Given the description of an element on the screen output the (x, y) to click on. 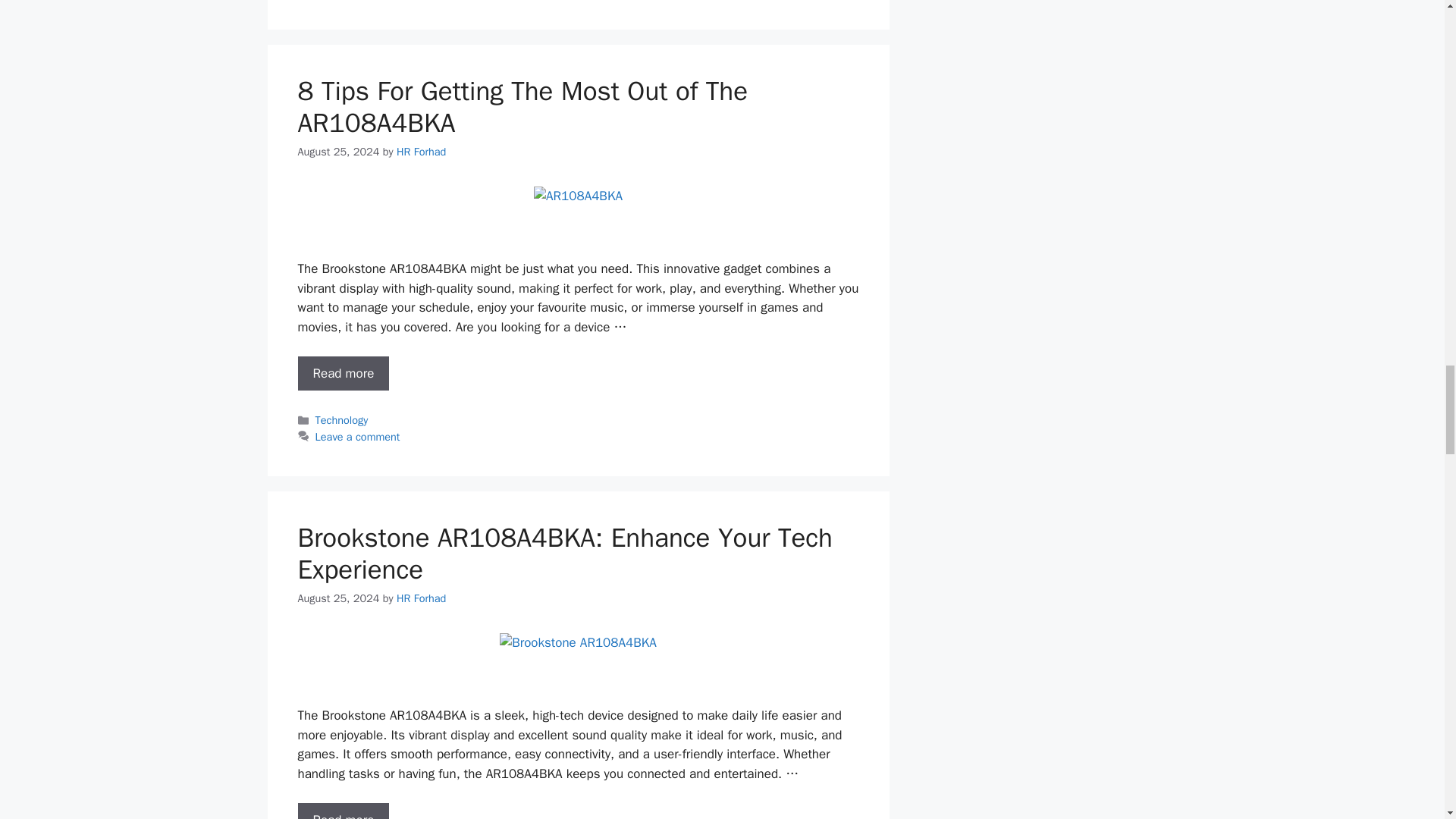
View all posts by HR Forhad (420, 598)
Brookstone AR108A4BKA: Enhance Your Tech Experience (342, 811)
View all posts by HR Forhad (420, 151)
8 Tips For Getting The Most Out of The AR108A4BKA (342, 373)
